Given the description of an element on the screen output the (x, y) to click on. 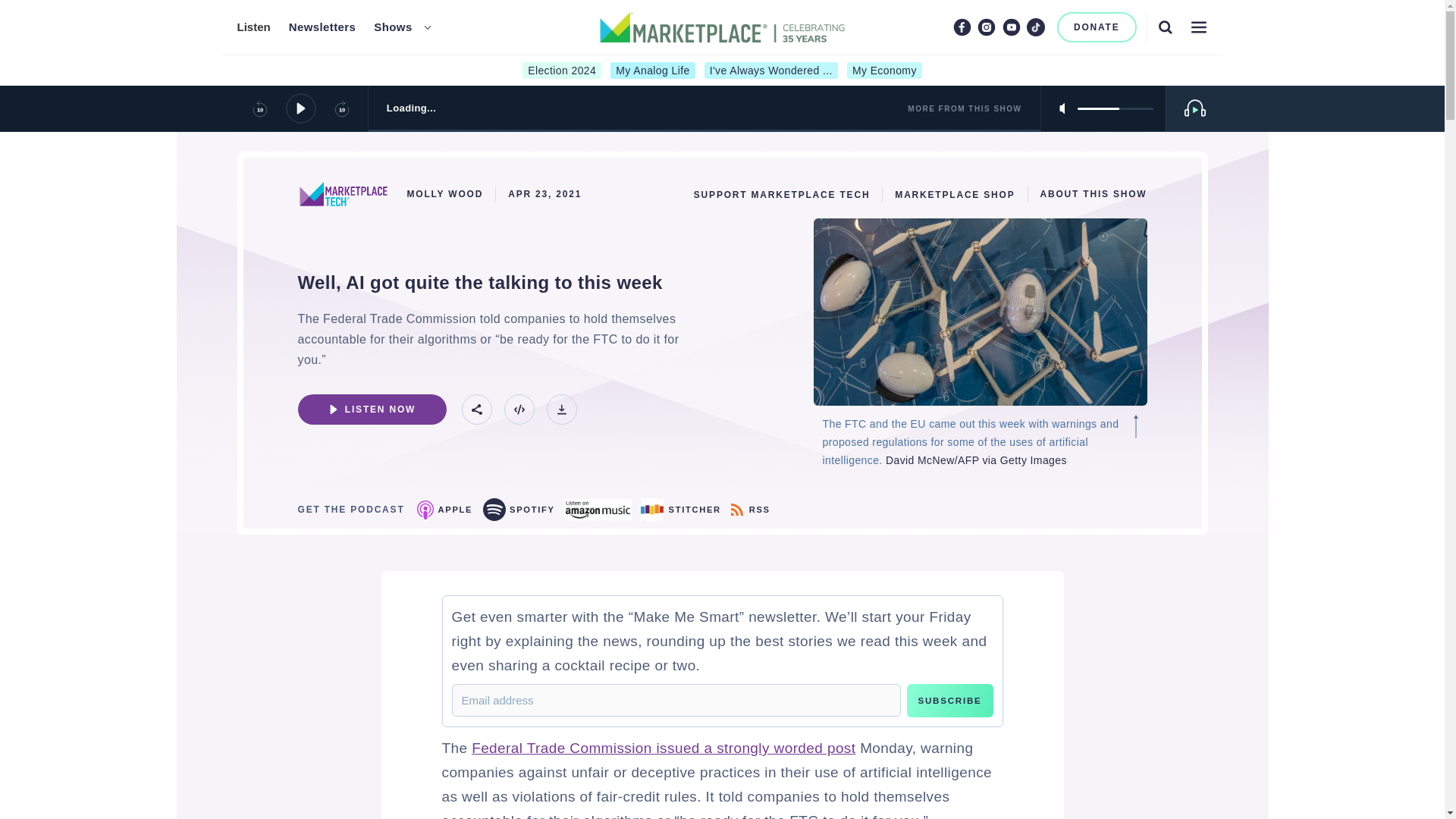
DONATE (1097, 27)
volume (1115, 108)
Shows (393, 26)
Listen (252, 26)
Search (1164, 27)
Youtube (1011, 27)
Listen Now (371, 409)
Newsletters (322, 27)
TikTok (1035, 27)
